Given the description of an element on the screen output the (x, y) to click on. 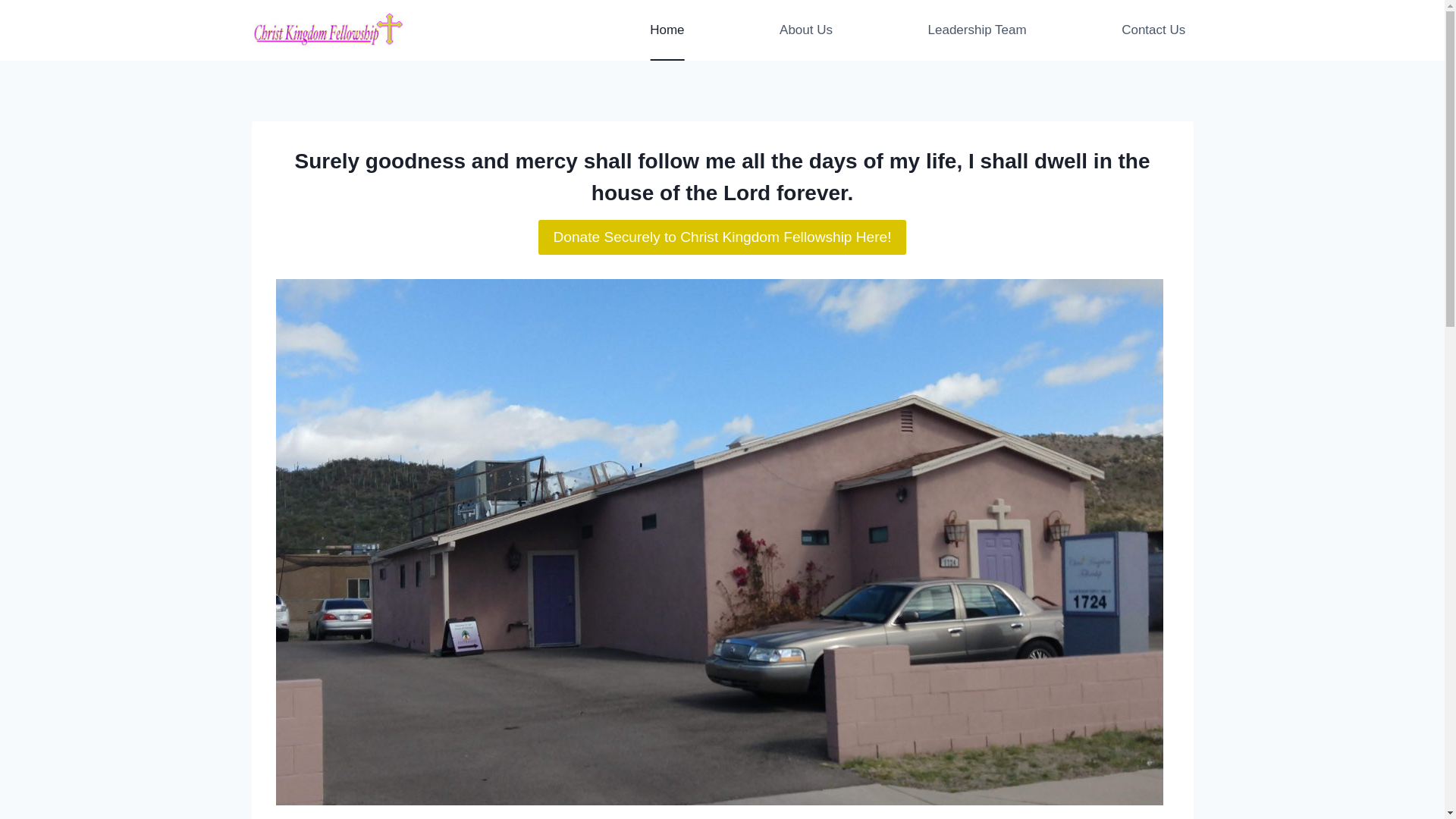
Donate Securely to Christ Kingdom Fellowship Here! (721, 237)
About Us (805, 30)
Leadership Team (976, 30)
Contact Us (1152, 30)
